Given the description of an element on the screen output the (x, y) to click on. 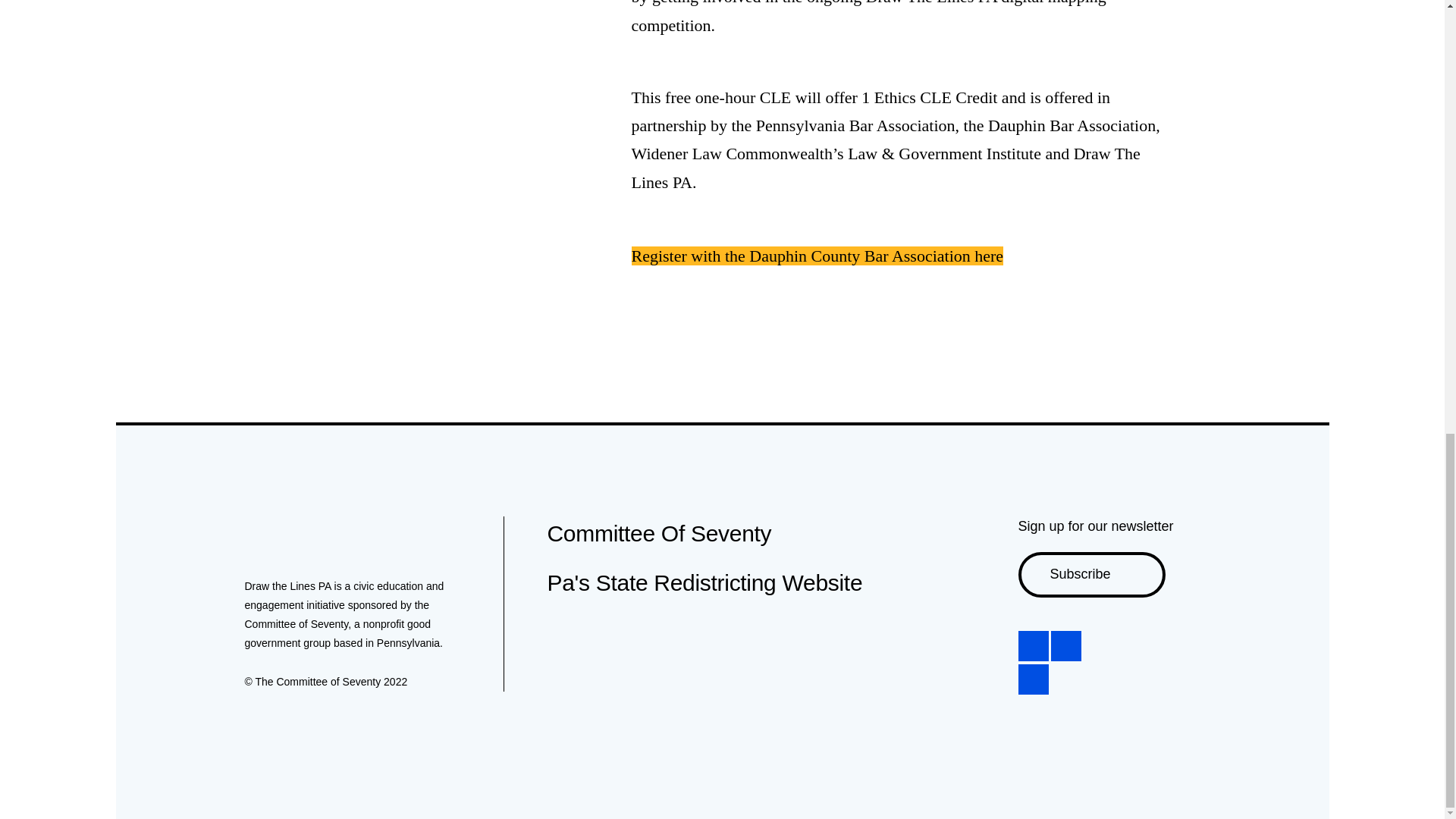
Subscribe (1090, 574)
Register with the Dauphin County Bar Association here (816, 255)
Committee Of Seventy (659, 533)
Pa's State Redistricting Website (705, 582)
